Given the description of an element on the screen output the (x, y) to click on. 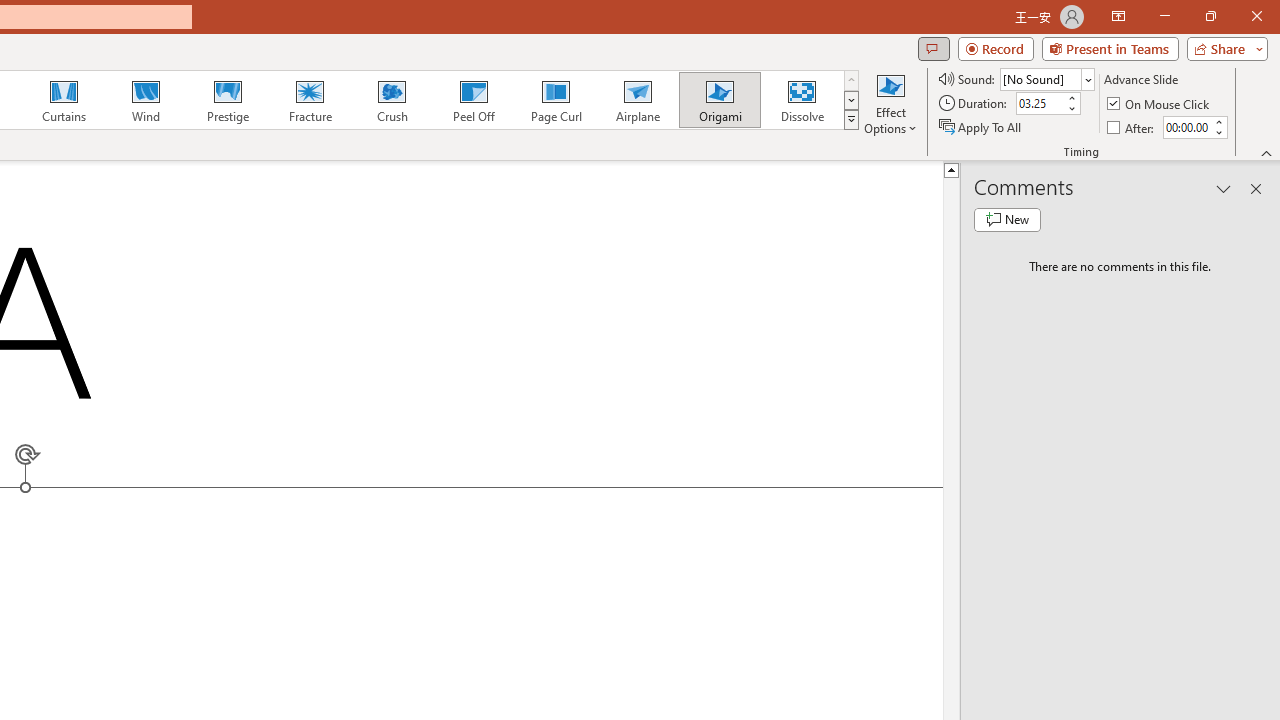
Origami (719, 100)
Dissolve (802, 100)
Airplane (637, 100)
Crush (391, 100)
Page Curl (555, 100)
Fracture (309, 100)
Wind (145, 100)
Apply To All (981, 126)
Effect Options (890, 102)
Sound (1046, 78)
Duration (1039, 103)
